Given the description of an element on the screen output the (x, y) to click on. 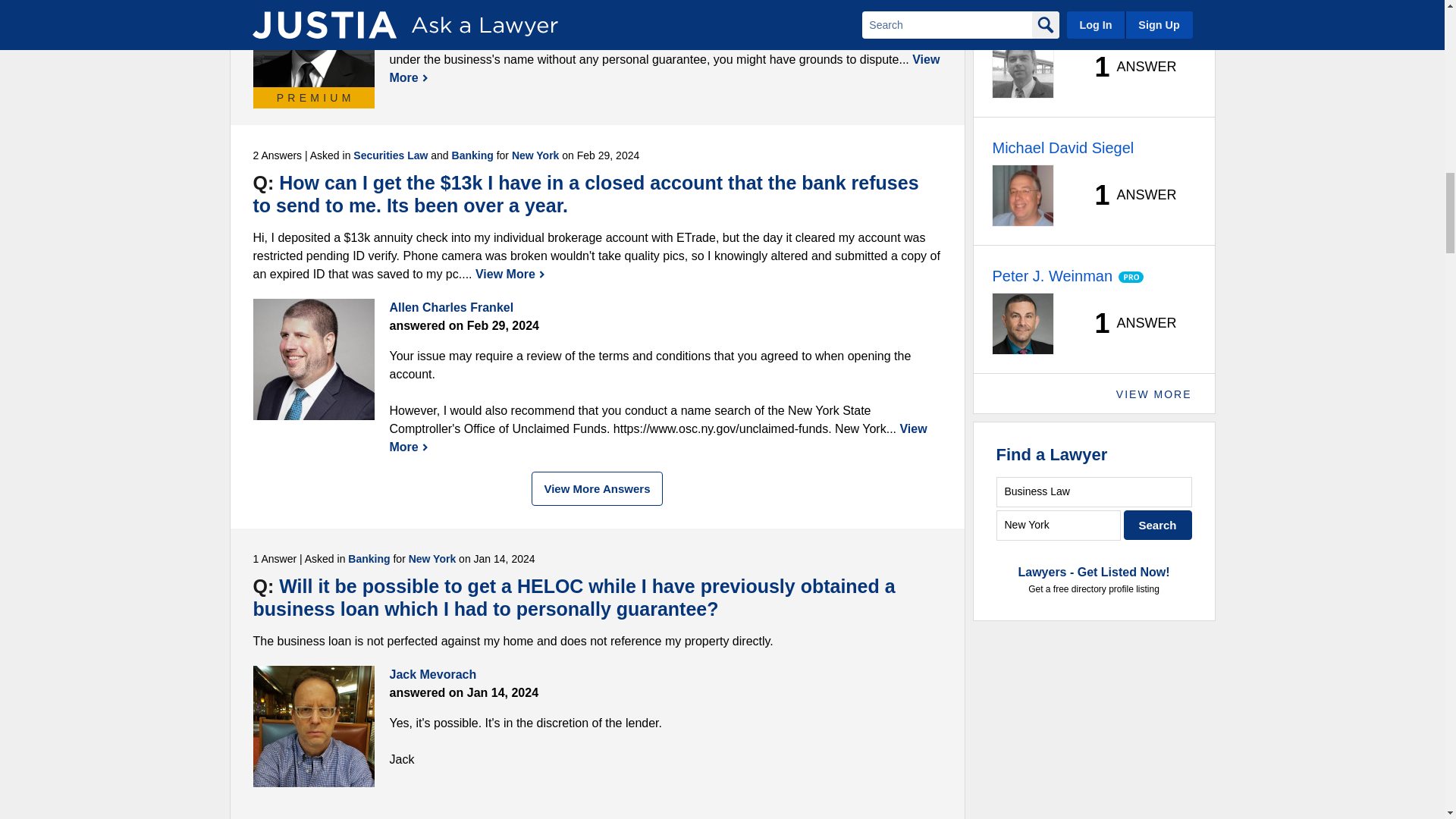
Business Law (1093, 491)
Jack Mevorach (313, 726)
New York (1058, 524)
Search (1158, 524)
Allen Charles Frankel (313, 359)
James L. Arrasmith (313, 43)
Search (1158, 524)
